Given the description of an element on the screen output the (x, y) to click on. 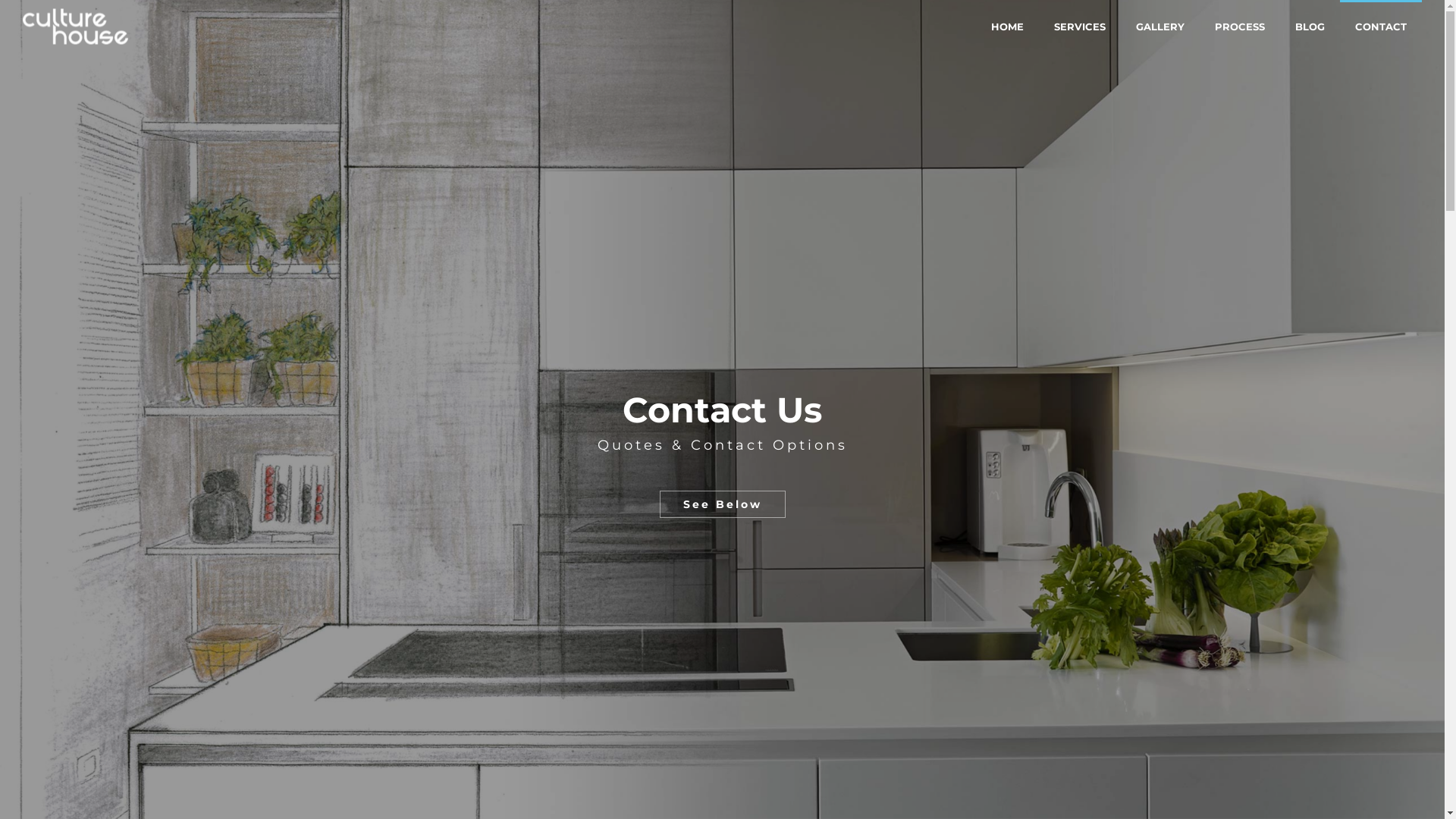
GALLERY Element type: text (1159, 26)
HOME Element type: text (1006, 26)
SERVICES Element type: text (1079, 26)
PROCESS Element type: text (1239, 26)
BLOG Element type: text (1309, 26)
CONTACT Element type: text (1380, 26)
